Given the description of an element on the screen output the (x, y) to click on. 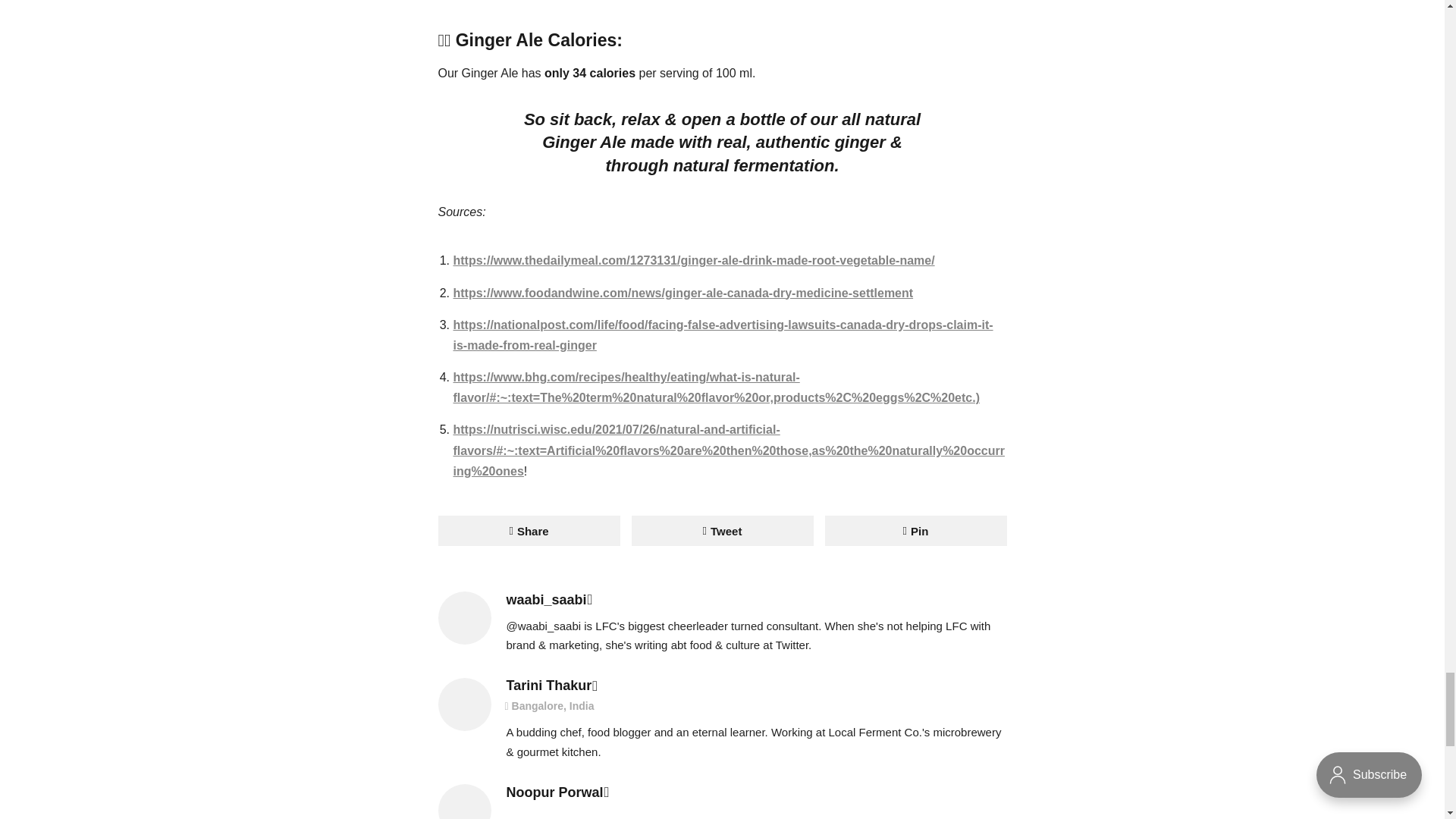
Pin (916, 530)
Tweet (721, 530)
Share (529, 530)
